Given the description of an element on the screen output the (x, y) to click on. 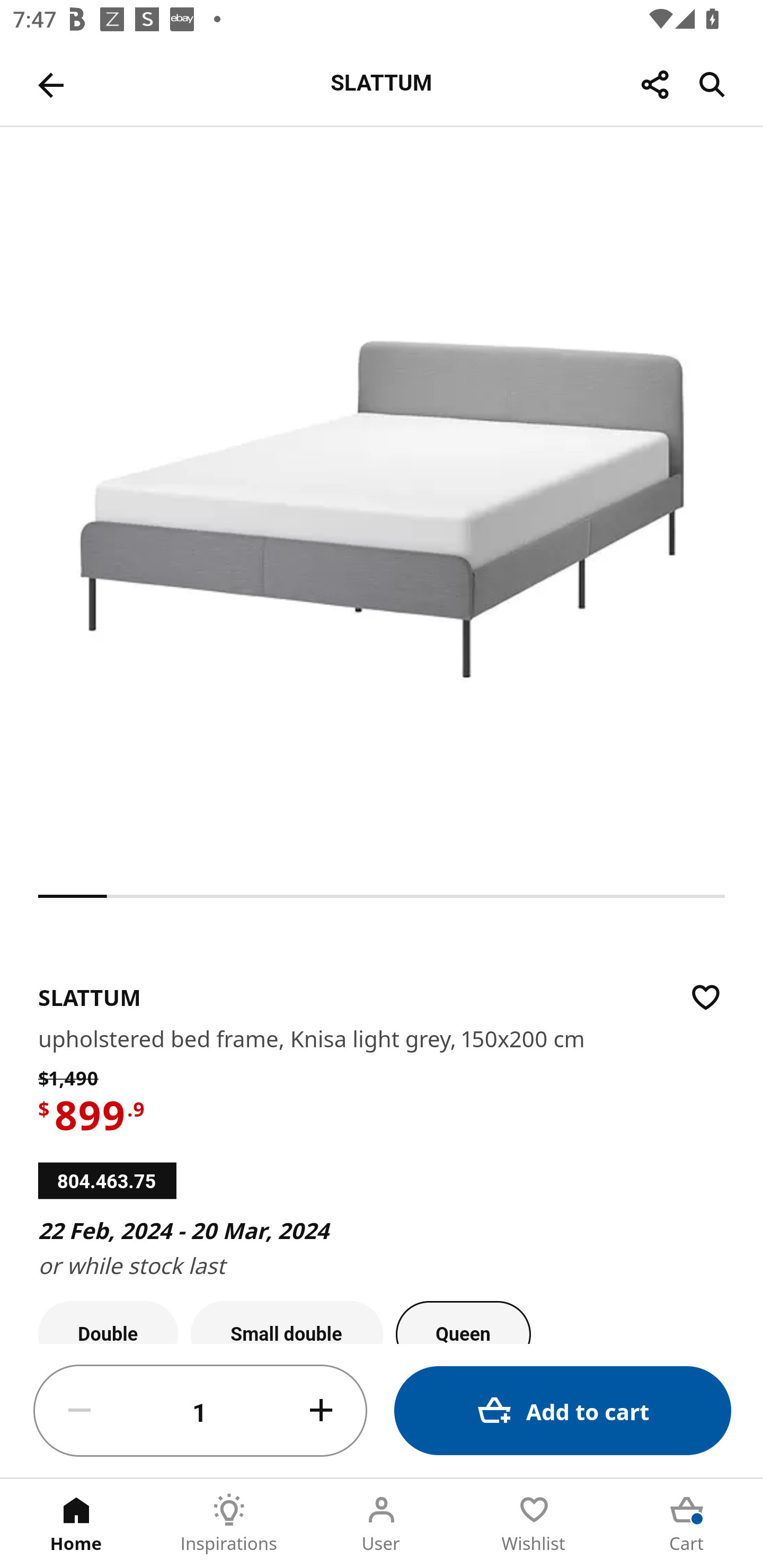
Double (107, 1322)
Small double (286, 1322)
Queen (463, 1322)
Add to cart (562, 1410)
1 (200, 1411)
Home
Tab 1 of 5 (76, 1522)
Inspirations
Tab 2 of 5 (228, 1522)
User
Tab 3 of 5 (381, 1522)
Wishlist
Tab 4 of 5 (533, 1522)
Cart
Tab 5 of 5 (686, 1522)
